Given the description of an element on the screen output the (x, y) to click on. 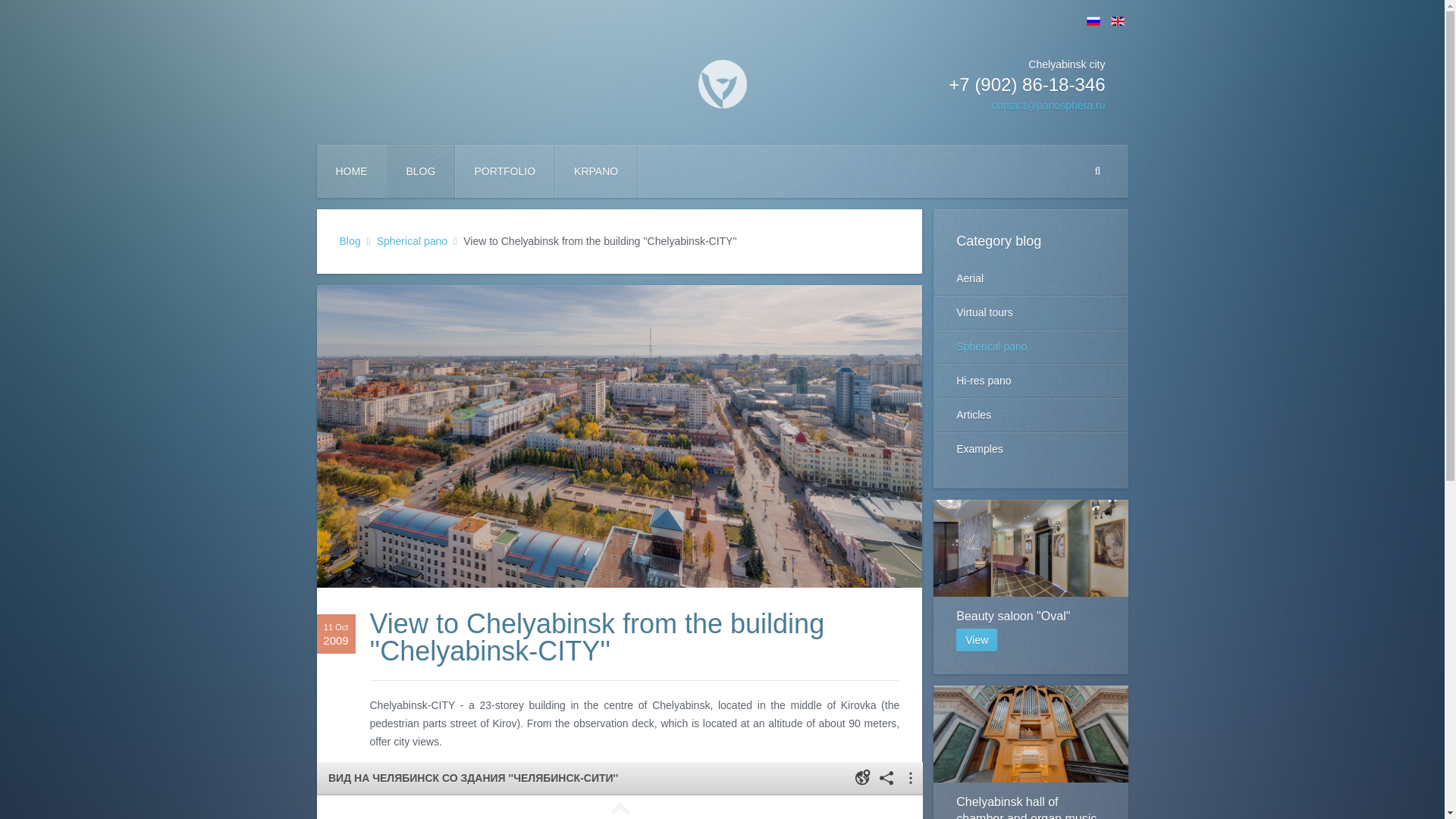
Aerial (1029, 277)
BLOG (420, 171)
Hi-res pano (1029, 752)
Blog (1029, 380)
Spherical pano (350, 240)
View (411, 240)
Virtual tours (976, 639)
HOME (1029, 311)
KRPANO (1029, 586)
Articles (352, 171)
PORTFOLIO (595, 171)
Examples (1029, 414)
Spherical pano (504, 171)
